Given the description of an element on the screen output the (x, y) to click on. 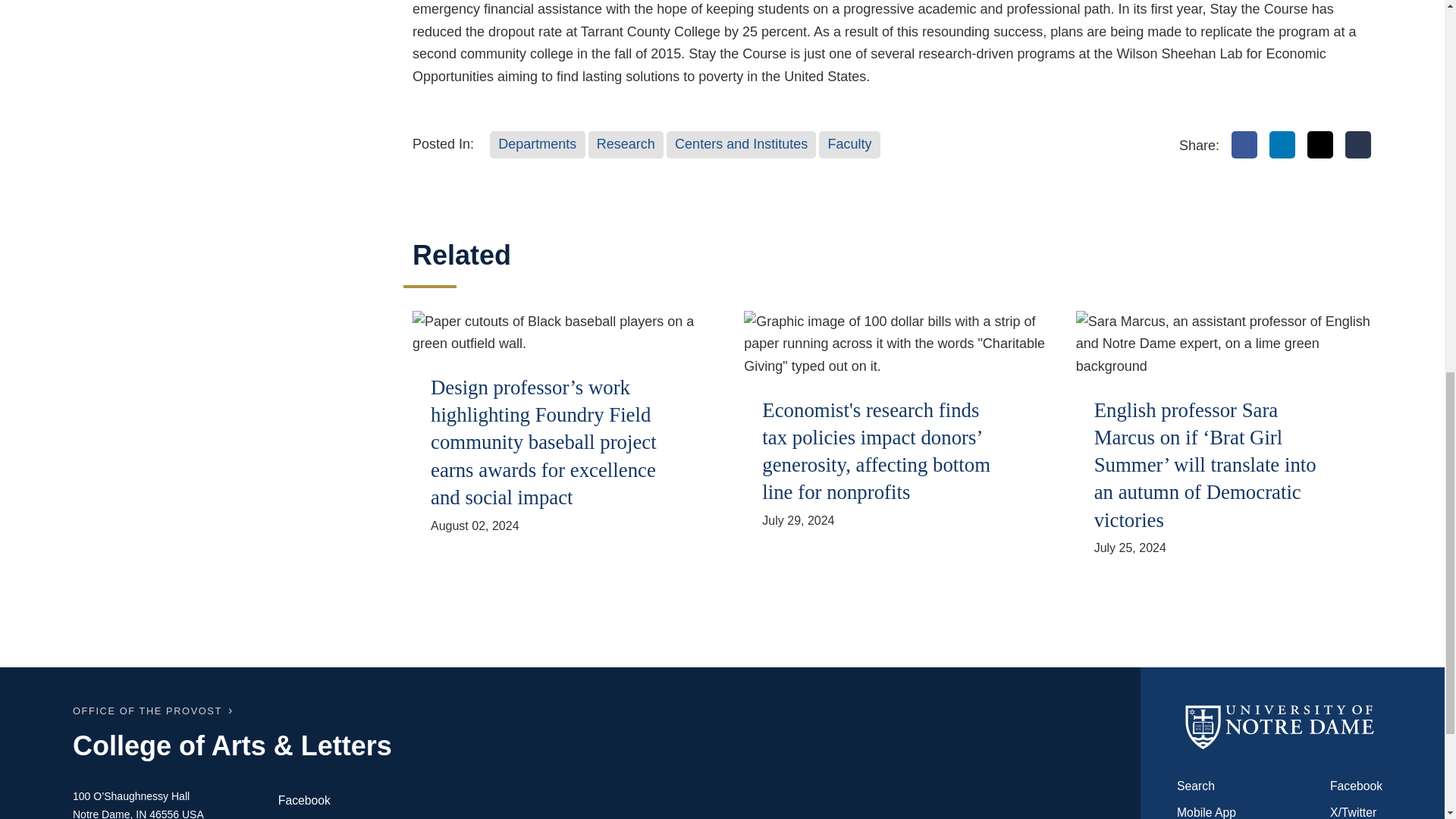
Email (1358, 144)
Facebook (1244, 144)
LinkedIn (1282, 144)
